Given the description of an element on the screen output the (x, y) to click on. 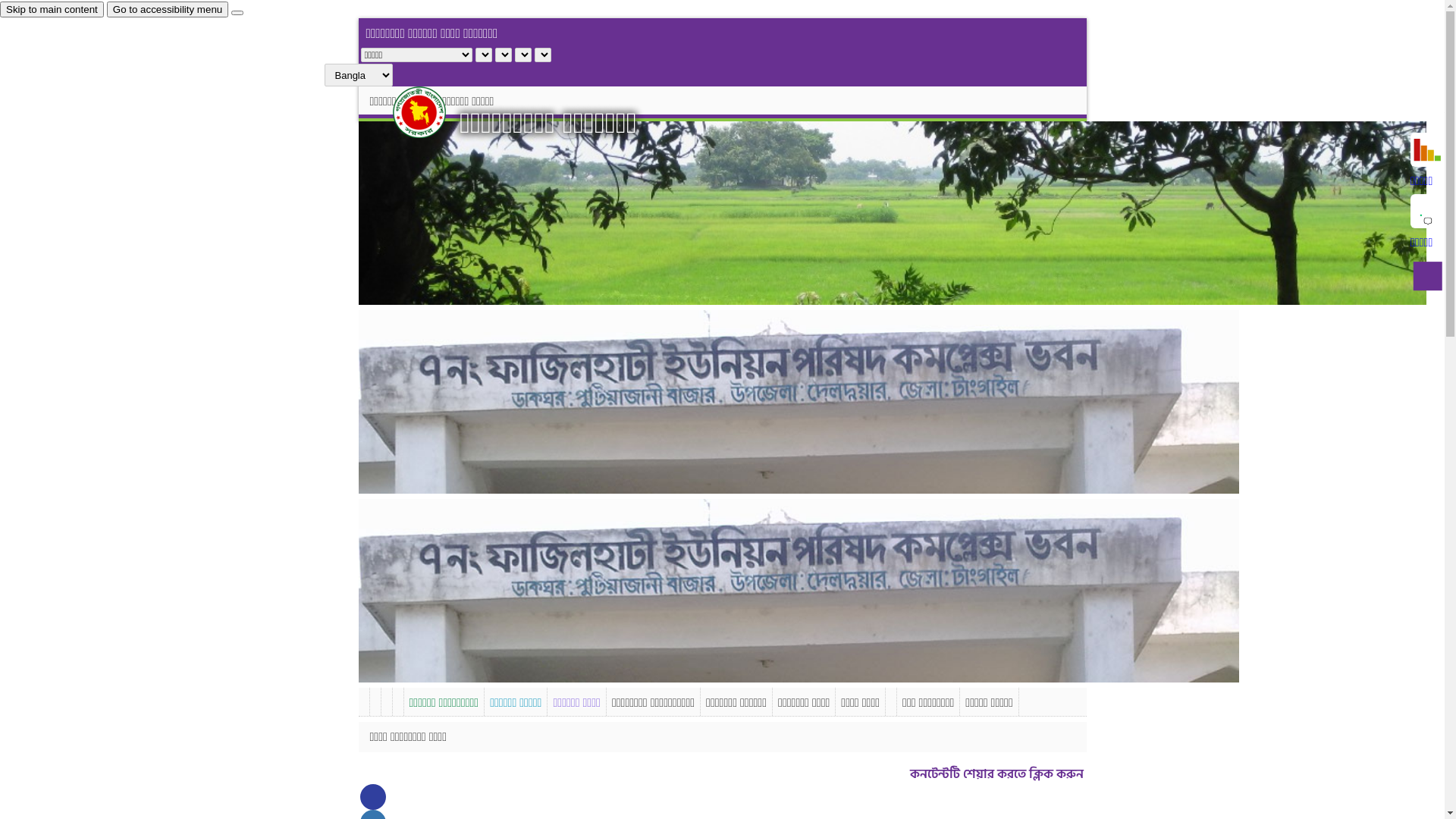
close Element type: hover (237, 12)

                
             Element type: hover (431, 112)
Skip to main content Element type: text (51, 9)
Go to accessibility menu Element type: text (167, 9)
